Given the description of an element on the screen output the (x, y) to click on. 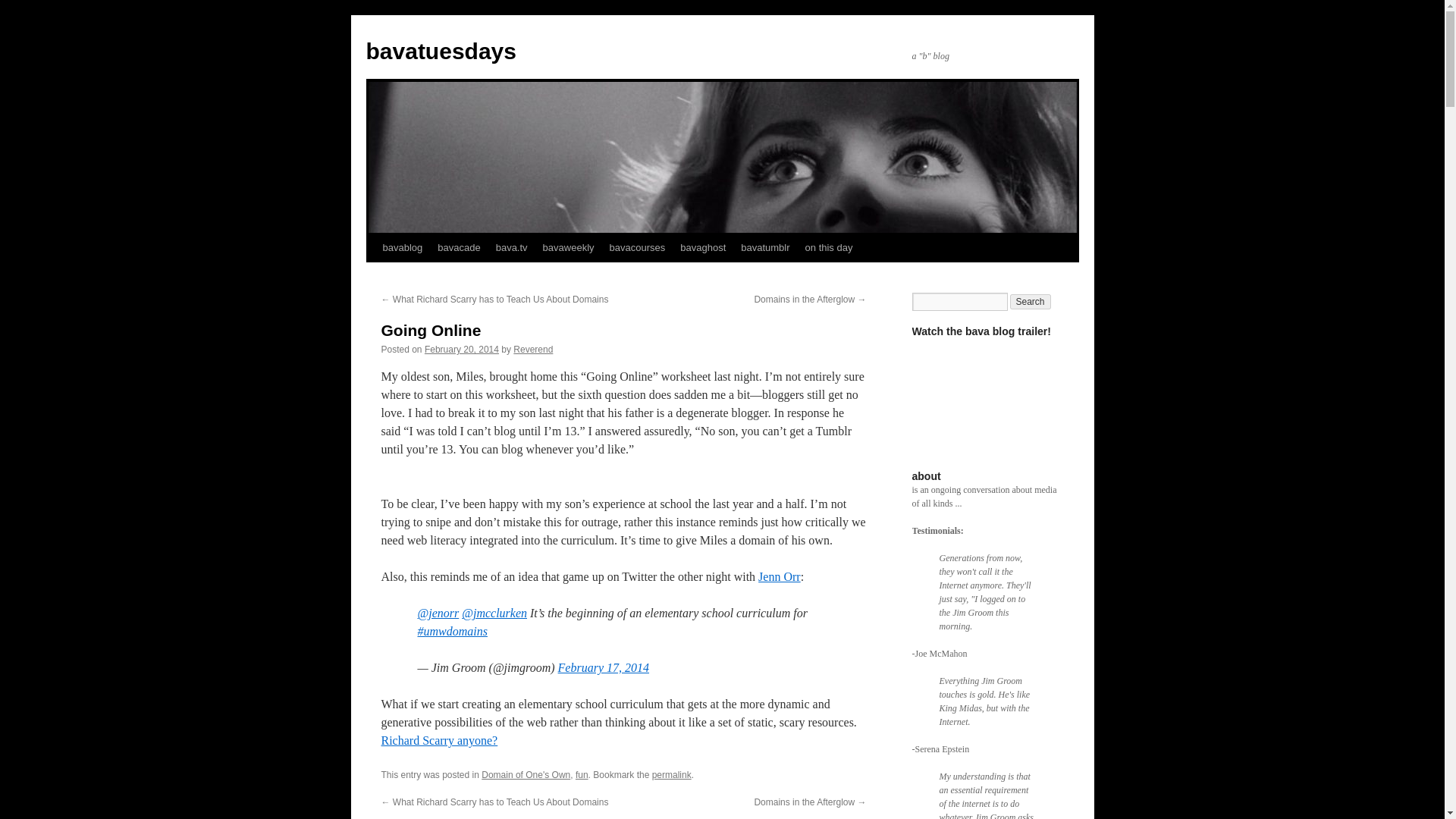
bava.tv (511, 247)
Domain of One's Own (525, 774)
View all posts by Reverend (533, 348)
fun (581, 774)
bavacade (458, 247)
bavaghost (702, 247)
bavacourses (637, 247)
Reverend (533, 348)
9:03 am (462, 348)
on this day (828, 247)
February 17, 2014 (603, 667)
bavatuesdays (440, 50)
bavatumblr (764, 247)
bavaweekly (568, 247)
Permalink to Going Online (671, 774)
